Given the description of an element on the screen output the (x, y) to click on. 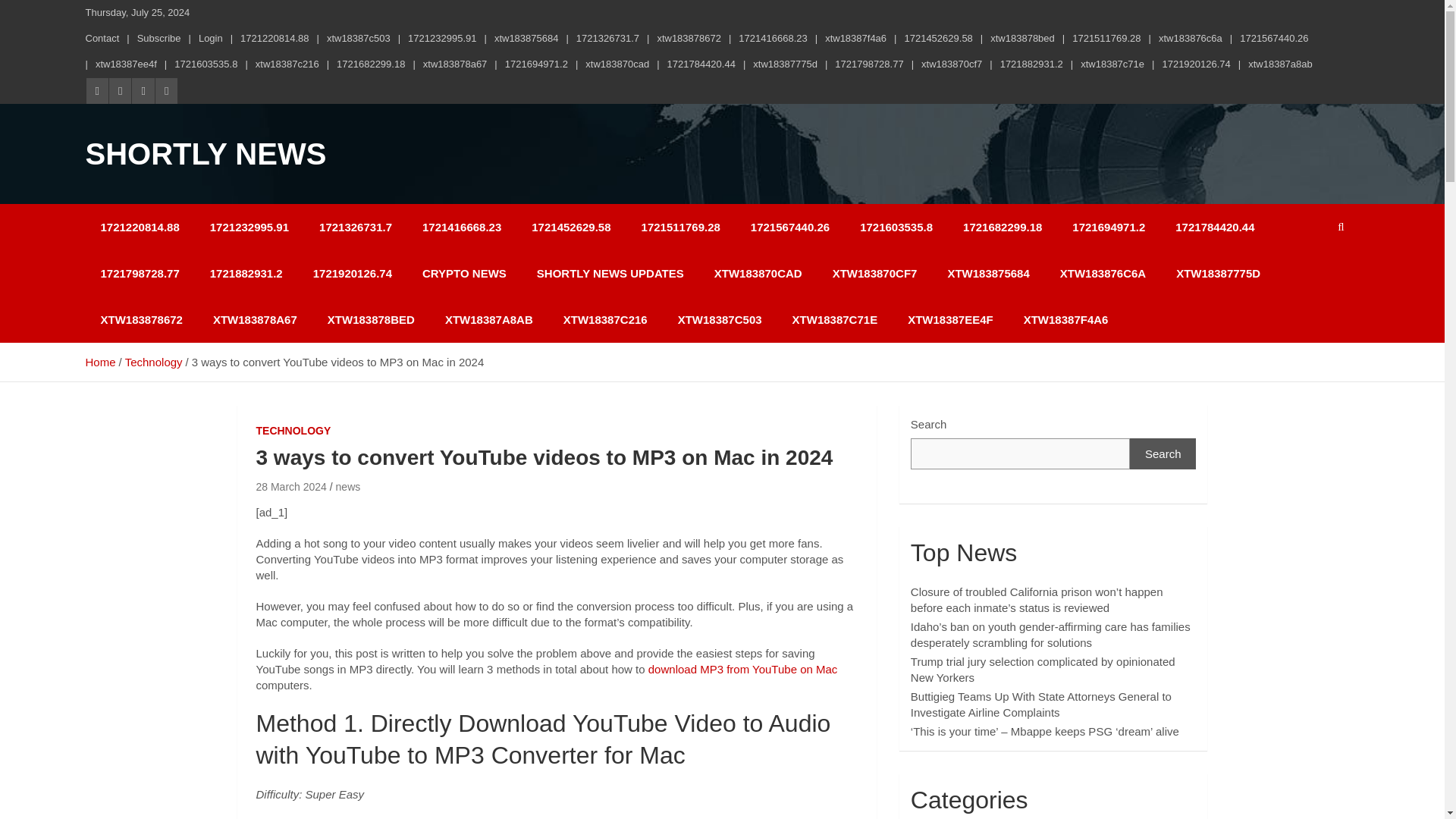
1721416668.23 (772, 38)
xtw183870cf7 (951, 64)
1721694971.2 (536, 64)
xtw183878bed (1022, 38)
1721511769.28 (1105, 38)
xtw183878672 (688, 38)
1721220814.88 (274, 38)
xtw18387ee4f (126, 64)
1721452629.58 (938, 38)
xtw18387a8ab (1280, 64)
1721798728.77 (868, 64)
1721326731.7 (607, 38)
1721882931.2 (1031, 64)
1721784420.44 (700, 64)
3 ways to convert YouTube videos to MP3 on Mac in 2024 (291, 486)
